Given the description of an element on the screen output the (x, y) to click on. 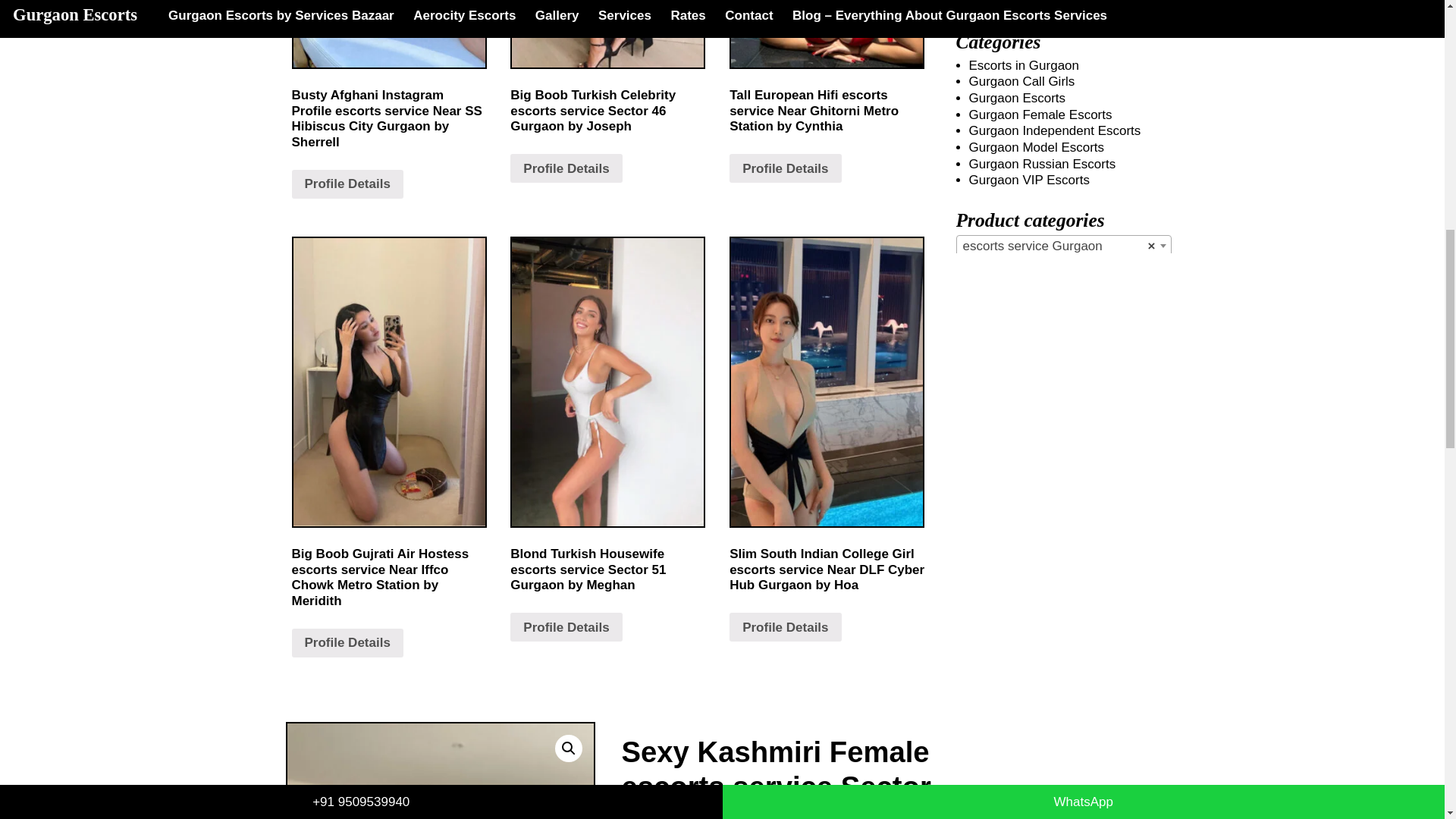
Profile Details (347, 184)
Profile Details (785, 626)
Profile Details (785, 167)
Profile Details (347, 642)
ozella (440, 770)
Profile Details (566, 626)
Profile Details (566, 167)
escorts service Gurgaon (1063, 246)
